Given the description of an element on the screen output the (x, y) to click on. 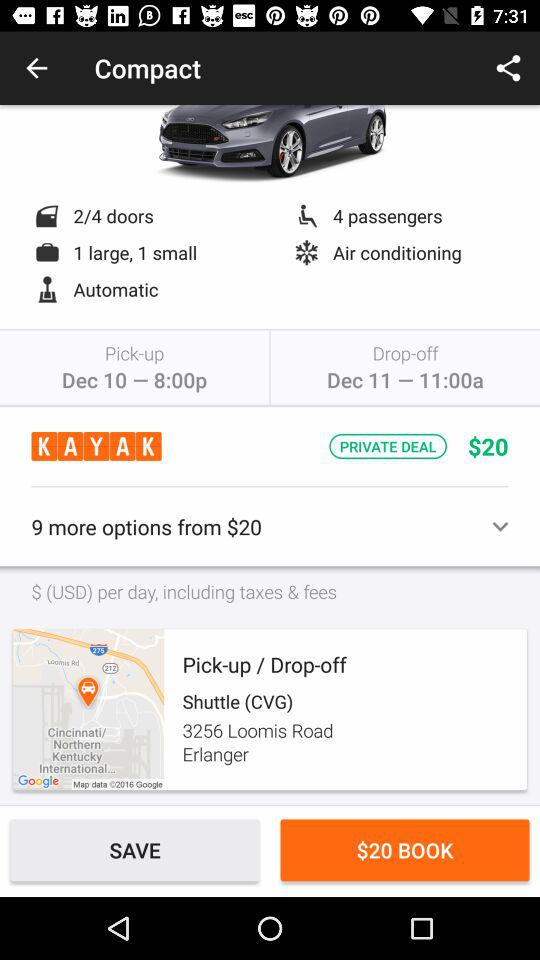
jump to 9 more options item (270, 526)
